Given the description of an element on the screen output the (x, y) to click on. 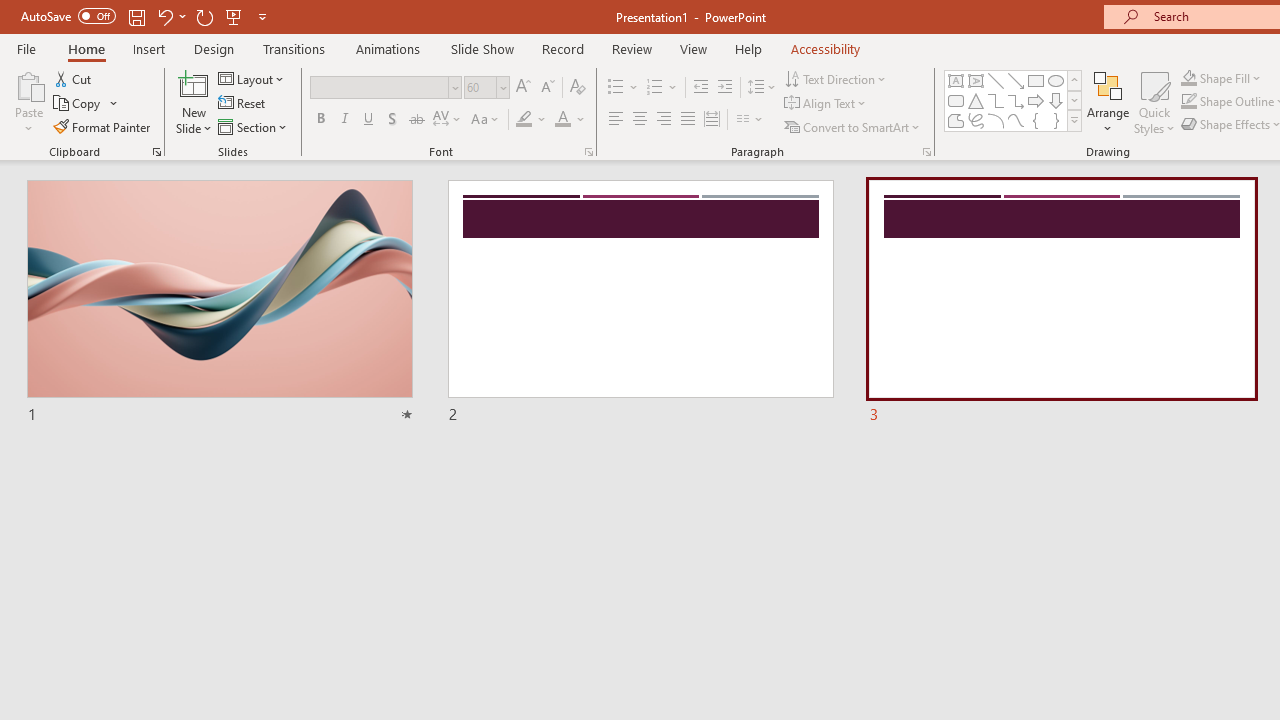
Text Highlight Color Yellow (524, 119)
Font... (588, 151)
Oval (1055, 80)
